Given the description of an element on the screen output the (x, y) to click on. 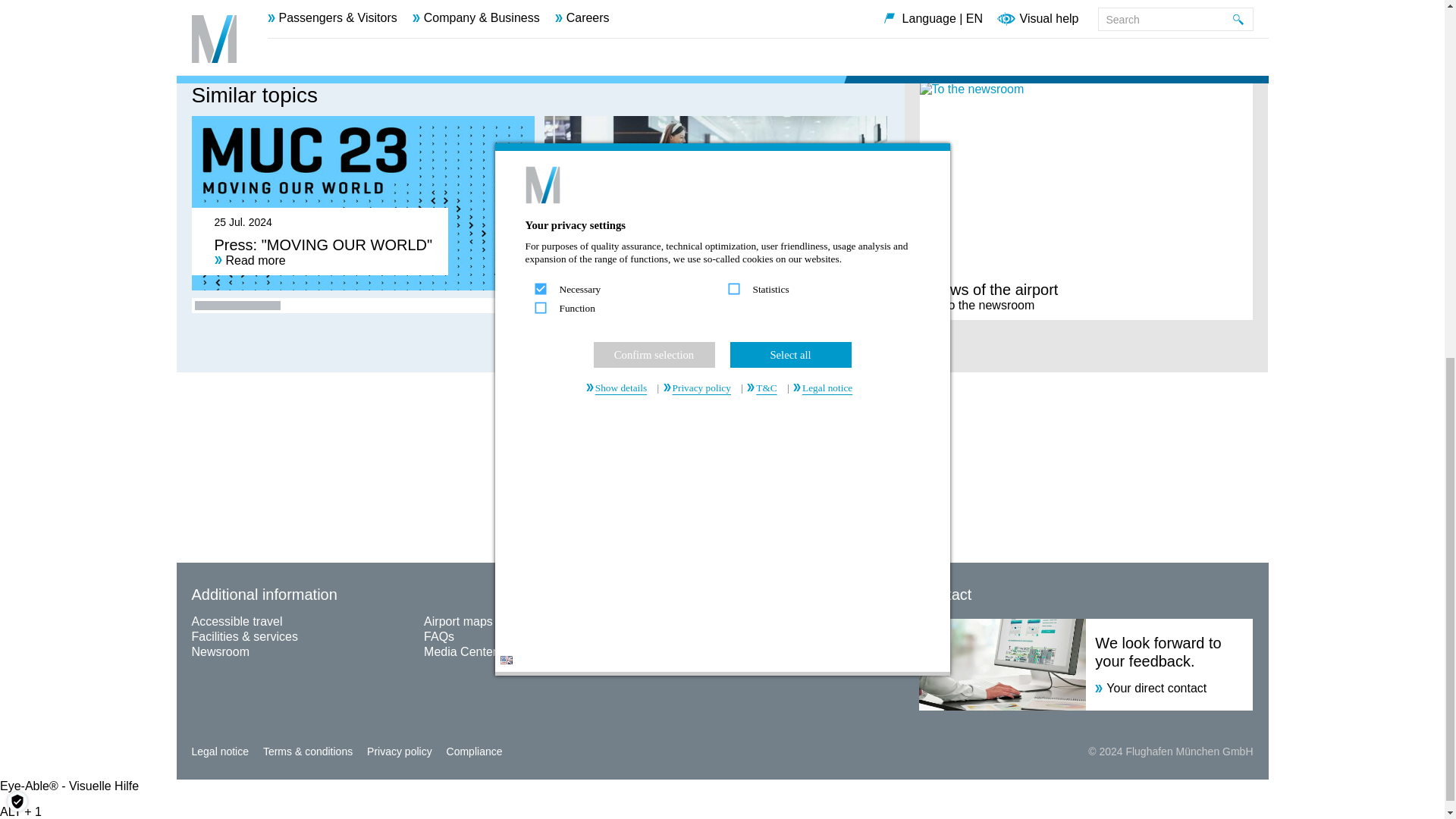
Language: en (506, 19)
Language: en (506, 18)
